Given the description of an element on the screen output the (x, y) to click on. 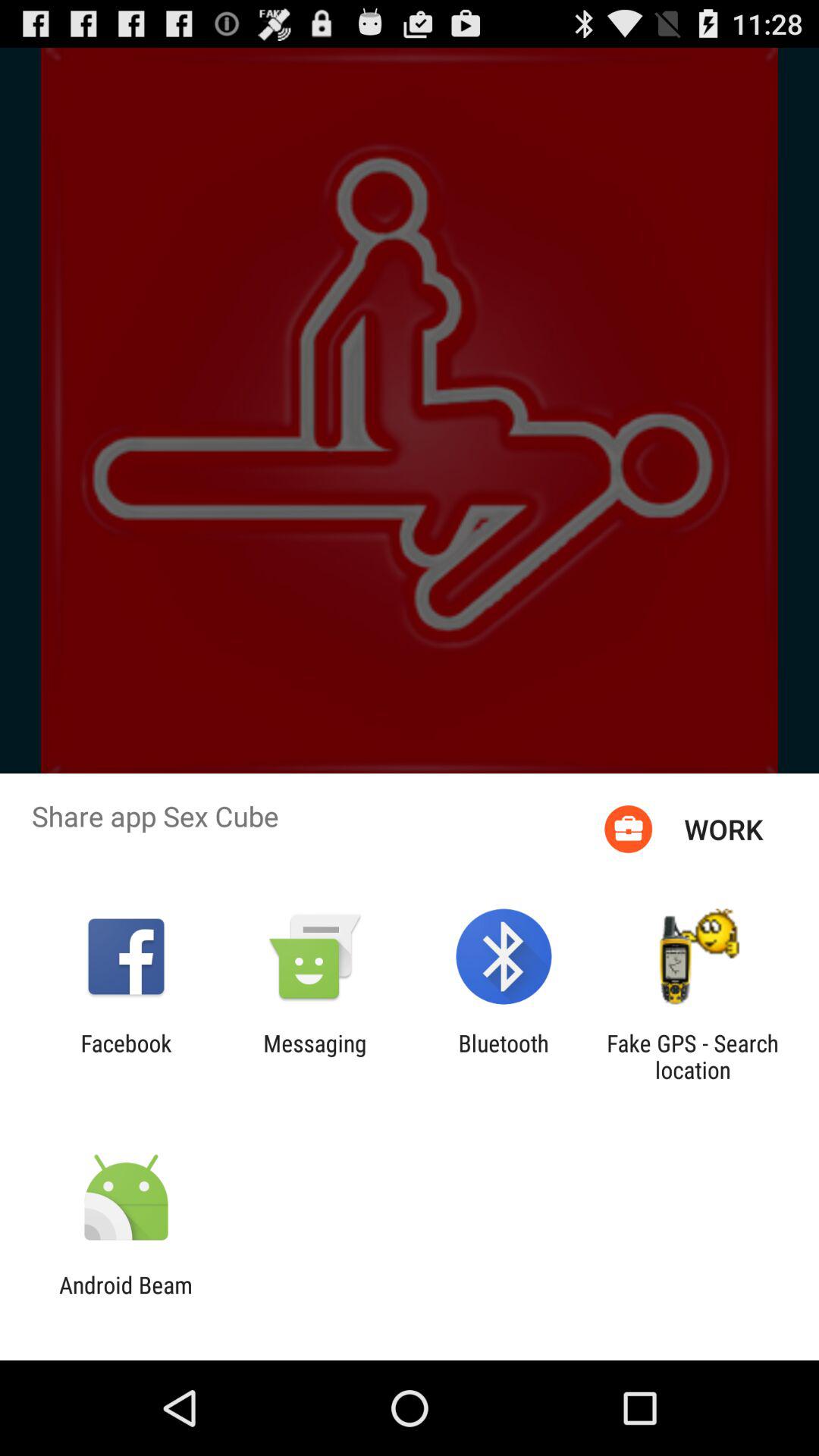
launch fake gps search icon (692, 1056)
